Given the description of an element on the screen output the (x, y) to click on. 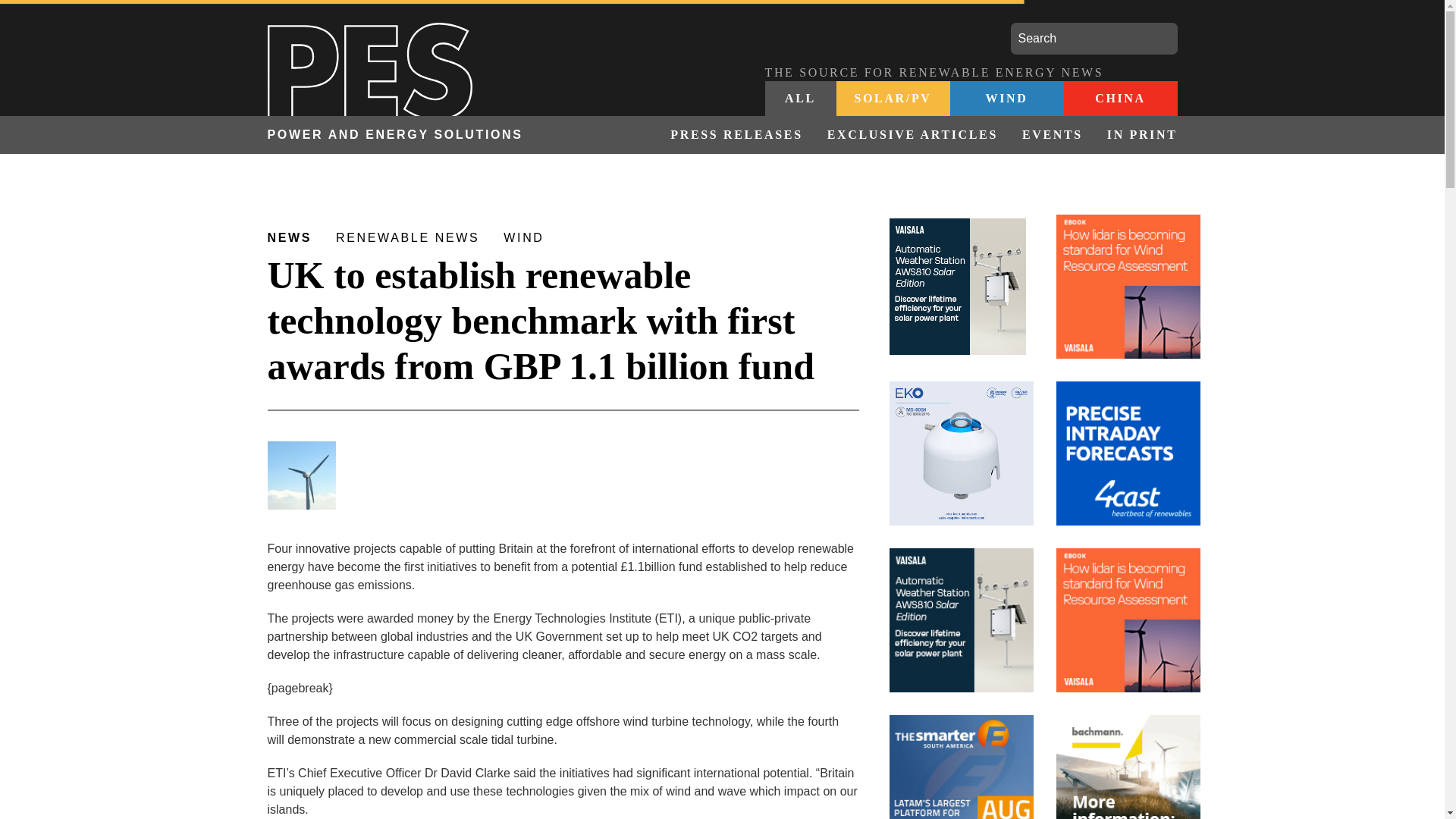
WIND (1005, 98)
IN PRINT (1135, 134)
Search for: (1093, 38)
EXCLUSIVE ARTICLES (912, 134)
CHINA (1119, 98)
EVENTS (1052, 134)
PRESS RELEASES (735, 134)
ALL (799, 98)
